Given the description of an element on the screen output the (x, y) to click on. 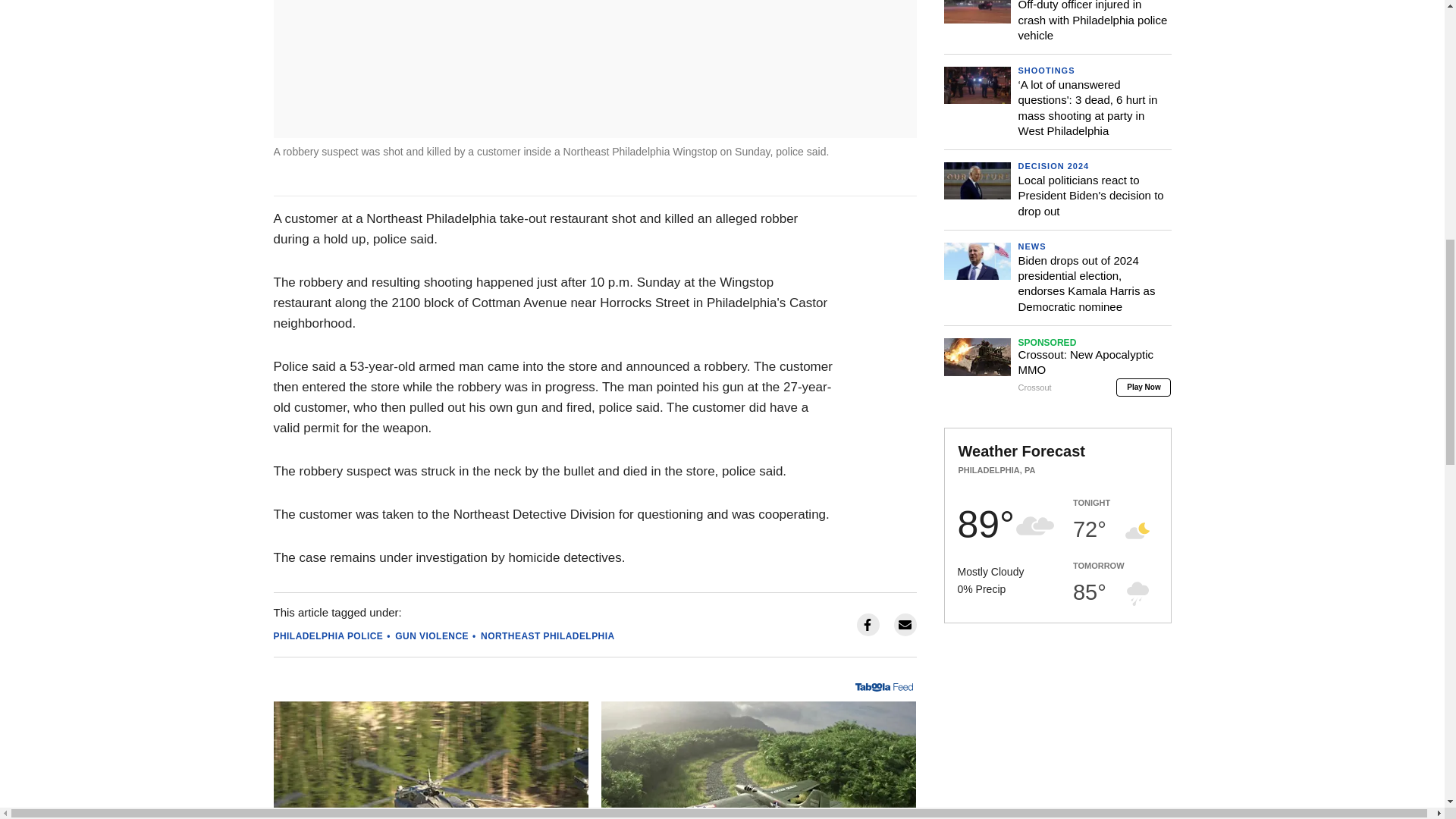
GUN VIOLENCE (431, 635)
NORTHEAST PHILADELPHIA (547, 635)
PHILADELPHIA POLICE (327, 635)
